Given the description of an element on the screen output the (x, y) to click on. 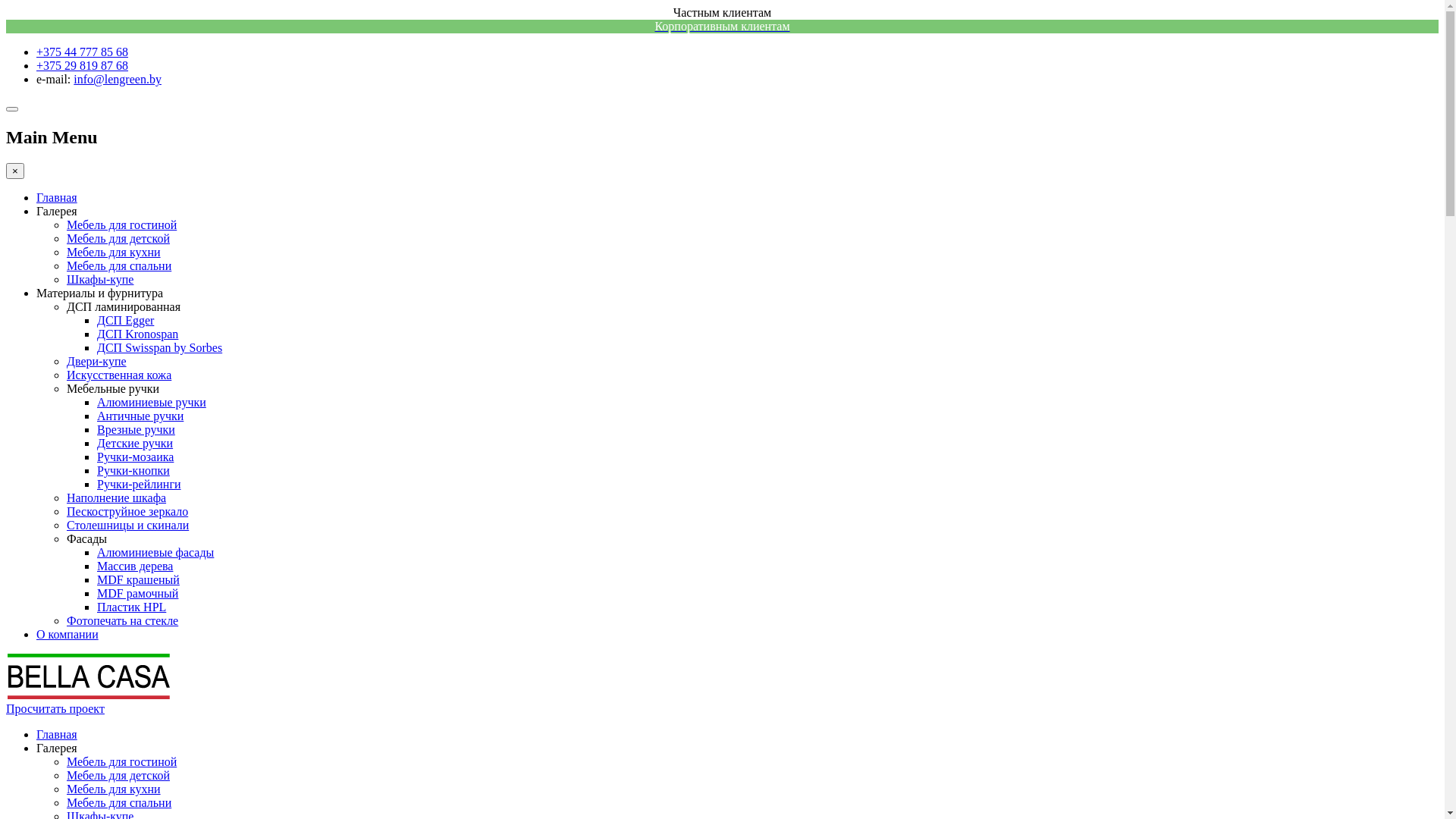
+375 29 819 87 68 Element type: text (82, 65)
info@lengreen.by Element type: text (117, 78)
lengreen Element type: hover (87, 694)
+375 44 777 85 68 Element type: text (82, 51)
